Given the description of an element on the screen output the (x, y) to click on. 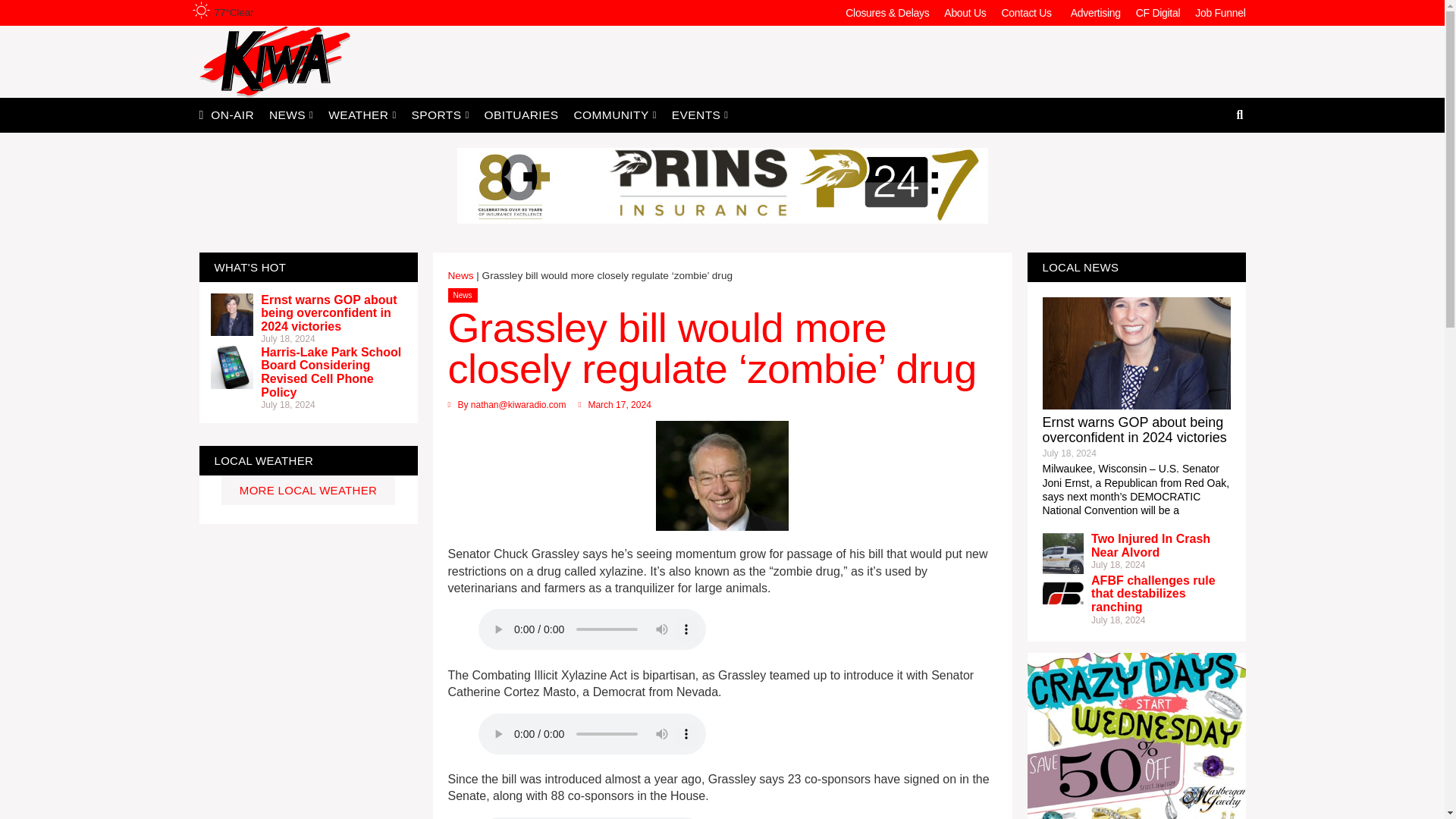
WEATHER (361, 114)
NEWS (291, 114)
OBITUARIES (521, 114)
SPORTS (440, 114)
EVENTS (699, 114)
CF Digital (1158, 12)
ON-AIR (232, 114)
Advertising (1095, 12)
Contact Us (1028, 12)
About Us (964, 12)
Job Funnel (1220, 12)
COMMUNITY (614, 114)
